Given the description of an element on the screen output the (x, y) to click on. 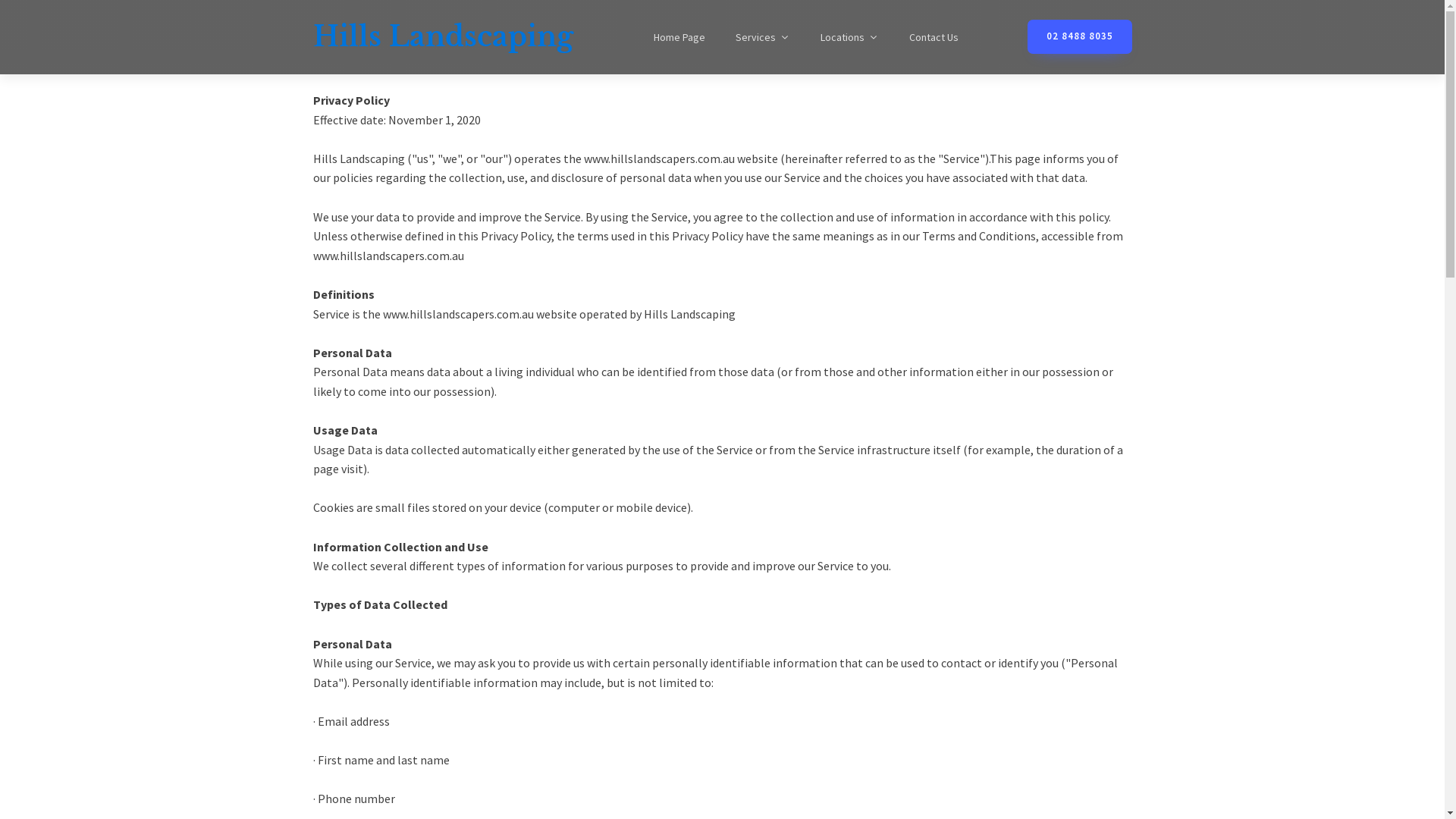
Home Page Element type: text (679, 37)
Locations Element type: text (849, 37)
Hills Landscaping Element type: text (442, 37)
Contact Us Element type: text (932, 37)
Services Element type: text (762, 37)
02 8488 8035 Element type: text (1078, 36)
